Given the description of an element on the screen output the (x, y) to click on. 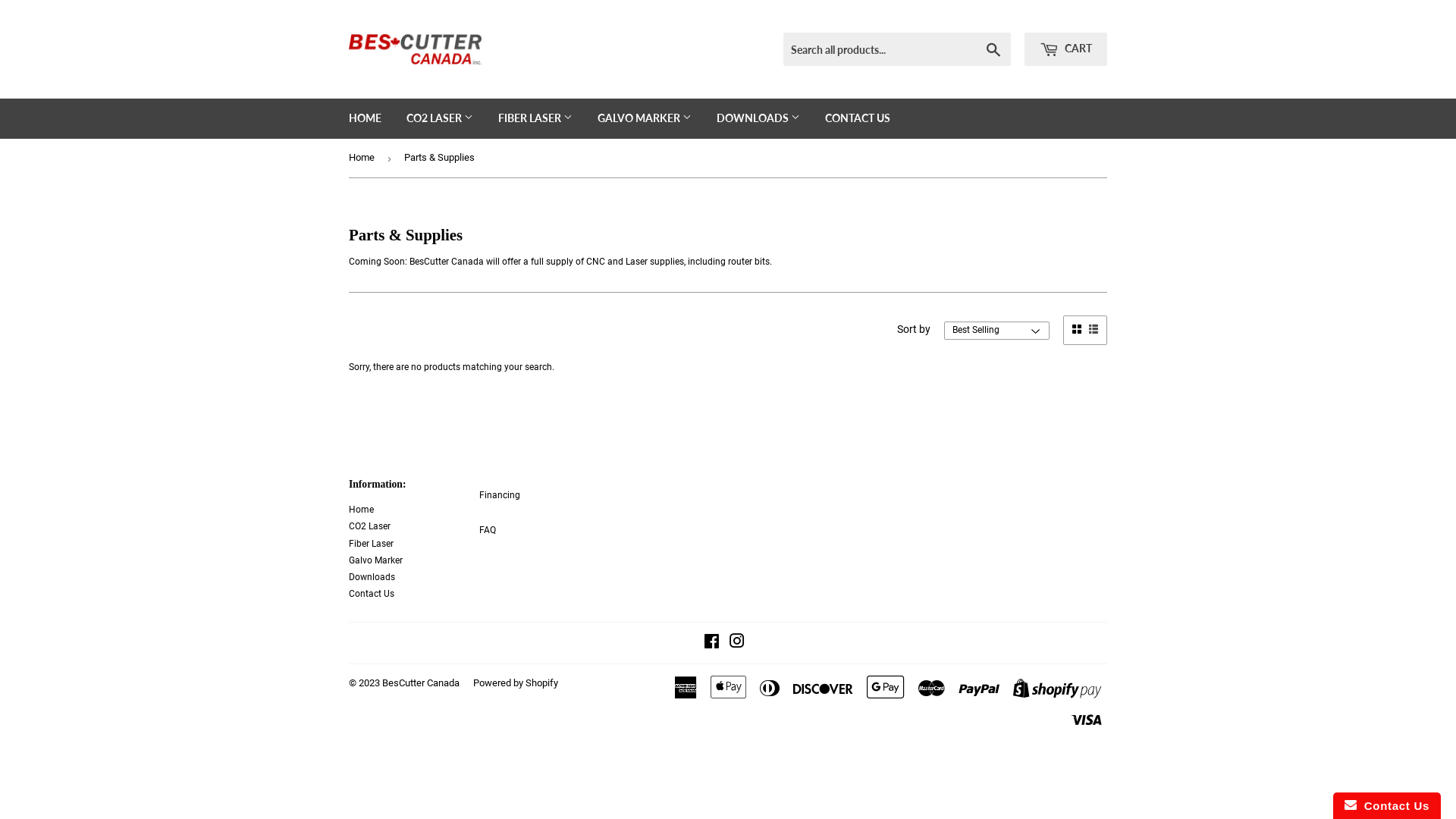
Powered by Shopify Element type: text (515, 682)
Galvo Marker Element type: text (375, 560)
BesCutter Canada Element type: text (420, 682)
Instagram Element type: text (736, 643)
Grid view Element type: hover (1076, 329)
Home Element type: text (360, 509)
Financing Element type: text (499, 494)
CONTACT US Element type: text (857, 118)
HOME Element type: text (364, 118)
Facebook Element type: text (711, 643)
CO2 LASER Element type: text (439, 118)
Fiber Laser Element type: text (370, 543)
DOWNLOADS Element type: text (758, 118)
CART Element type: text (1065, 48)
FAQ Element type: text (487, 529)
FIBER LASER Element type: text (534, 118)
GALVO MARKER Element type: text (644, 118)
Home Element type: text (363, 157)
Search Element type: text (993, 49)
Downloads Element type: text (371, 576)
Contact Us Element type: text (371, 593)
CO2 Laser Element type: text (369, 525)
List view Element type: hover (1093, 329)
